Given the description of an element on the screen output the (x, y) to click on. 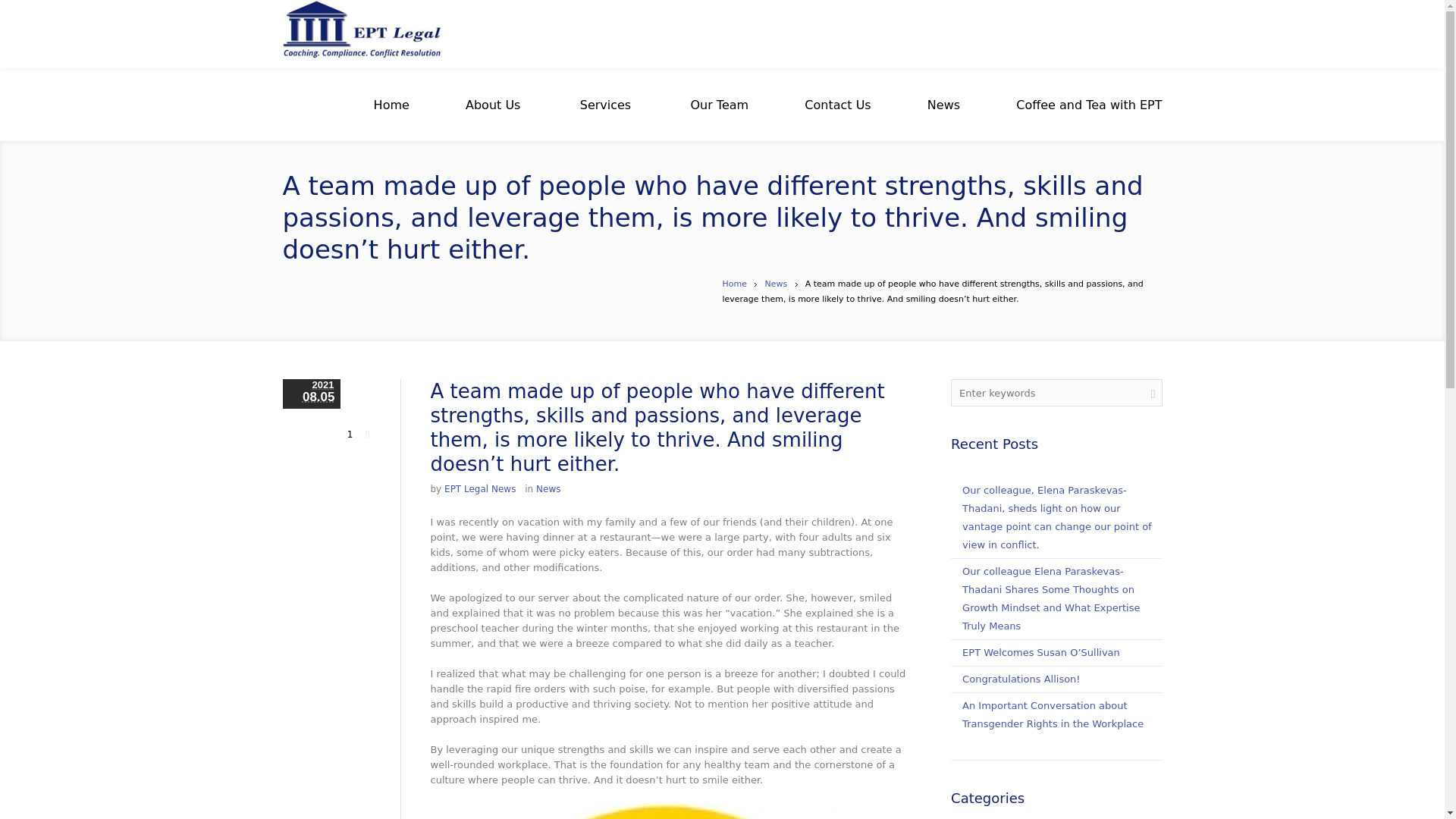
EPT Legal (361, 33)
Home (391, 105)
Posts by EPT Legal News (479, 489)
EPT Legal News (479, 489)
Congratulations Allison! (1021, 678)
News (943, 105)
About Us (492, 105)
News (775, 284)
News (547, 489)
Our Team (719, 105)
Home (733, 284)
